Given the description of an element on the screen output the (x, y) to click on. 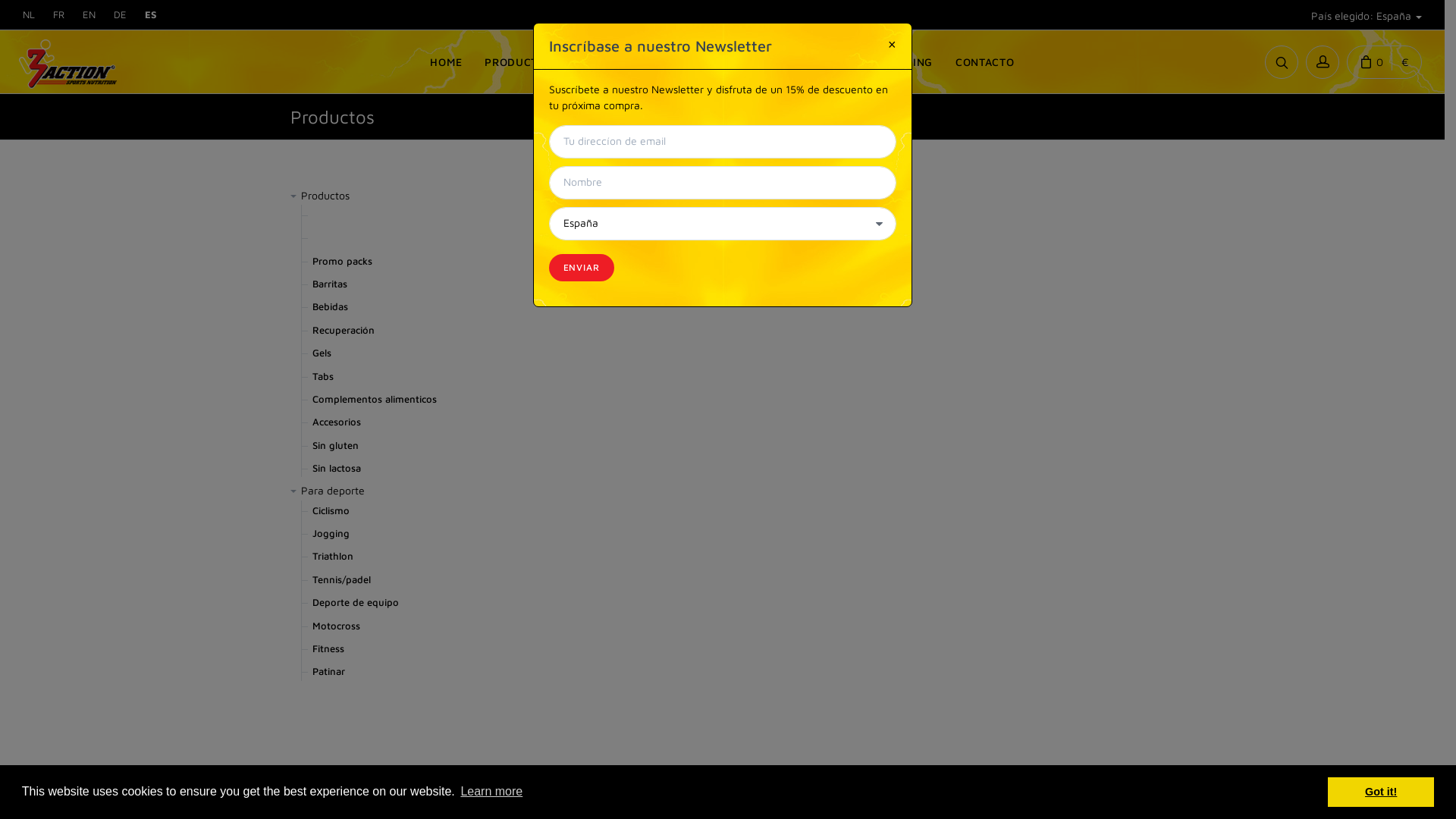
Tabs Element type: text (322, 376)
ES Element type: text (150, 14)
Got it! Element type: text (1380, 791)
DE Element type: text (119, 14)
Barritas Element type: text (329, 283)
ENVIAR Element type: text (581, 267)
Bebidas Element type: text (330, 306)
PRODUCTOS Element type: text (518, 61)
CONTACTO Element type: text (985, 61)
Deporte de equipo Element type: text (355, 602)
ATLETAS/EQUIPOS Element type: text (625, 61)
Jogging Element type: text (330, 533)
Sin gluten Element type: text (335, 445)
NL Element type: text (28, 14)
Promo packs Element type: text (342, 260)
Gels Element type: text (321, 352)
FR Element type: text (58, 14)
NOSOTROS Element type: text (807, 61)
HOME Element type: text (445, 61)
Accesorios Element type: text (336, 421)
CONSEJOS Element type: text (726, 61)
Sin lactosa Element type: text (336, 467)
Patinar Element type: text (328, 671)
Motocross Element type: text (336, 625)
Learn more Element type: text (491, 791)
Fitness Element type: text (328, 648)
Tennis/padel Element type: text (341, 579)
Ciclismo Element type: text (330, 510)
Triathlon Element type: text (332, 555)
Complementos alimenticos Element type: text (374, 398)
ANTI DOPING Element type: text (896, 61)
EN Element type: text (88, 14)
